Given the description of an element on the screen output the (x, y) to click on. 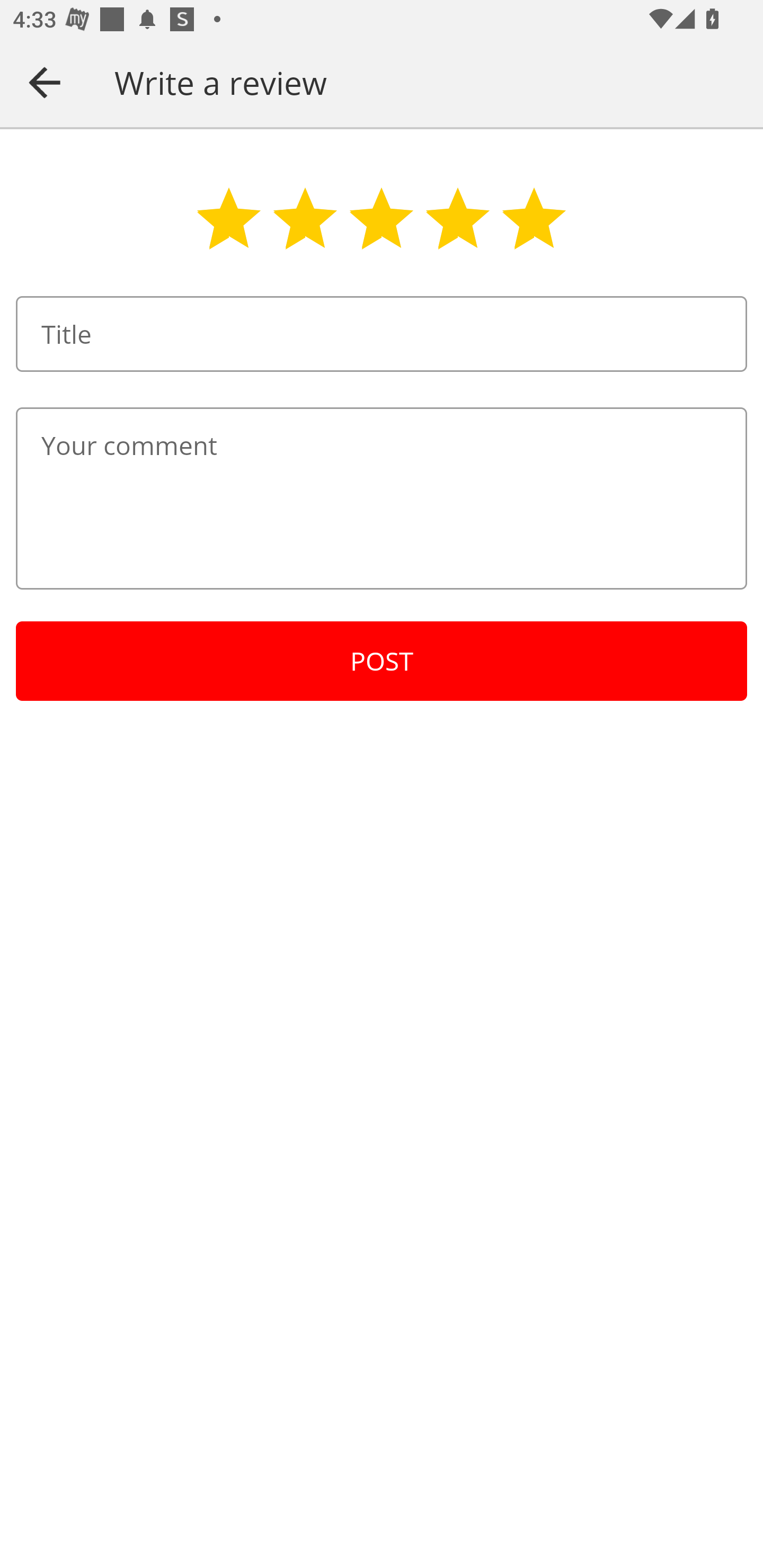
Navigate up (44, 82)
Title (381, 333)
Your comment (381, 498)
POST (381, 660)
